Given the description of an element on the screen output the (x, y) to click on. 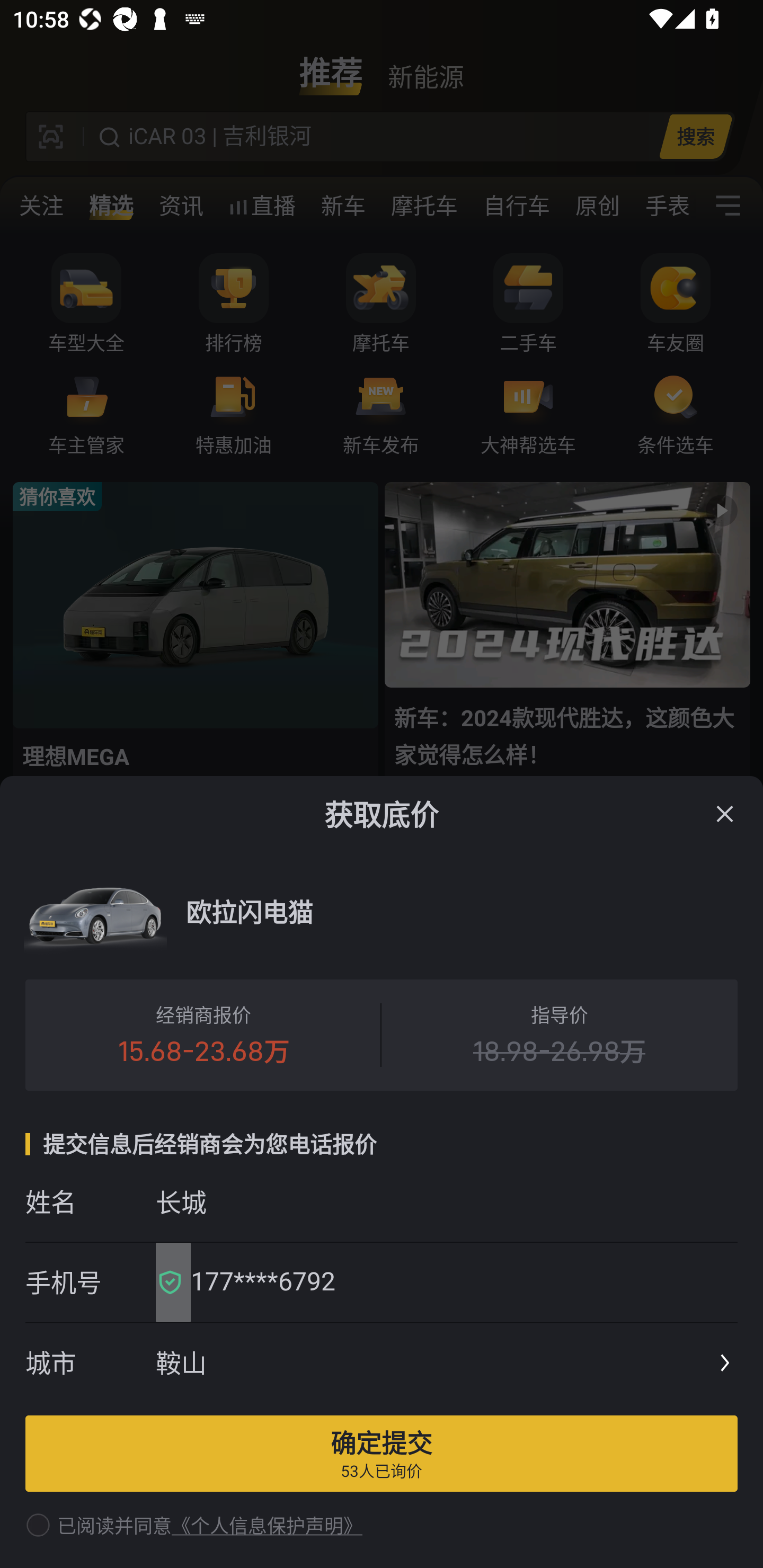
 (724, 813)
姓名 (90, 1201)
长城 (446, 1201)
手机号 (90, 1282)
177****6792 (457, 1282)
城市 鞍山  (381, 1363)
确定提交 53人已询价 (381, 1453)
